Given the description of an element on the screen output the (x, y) to click on. 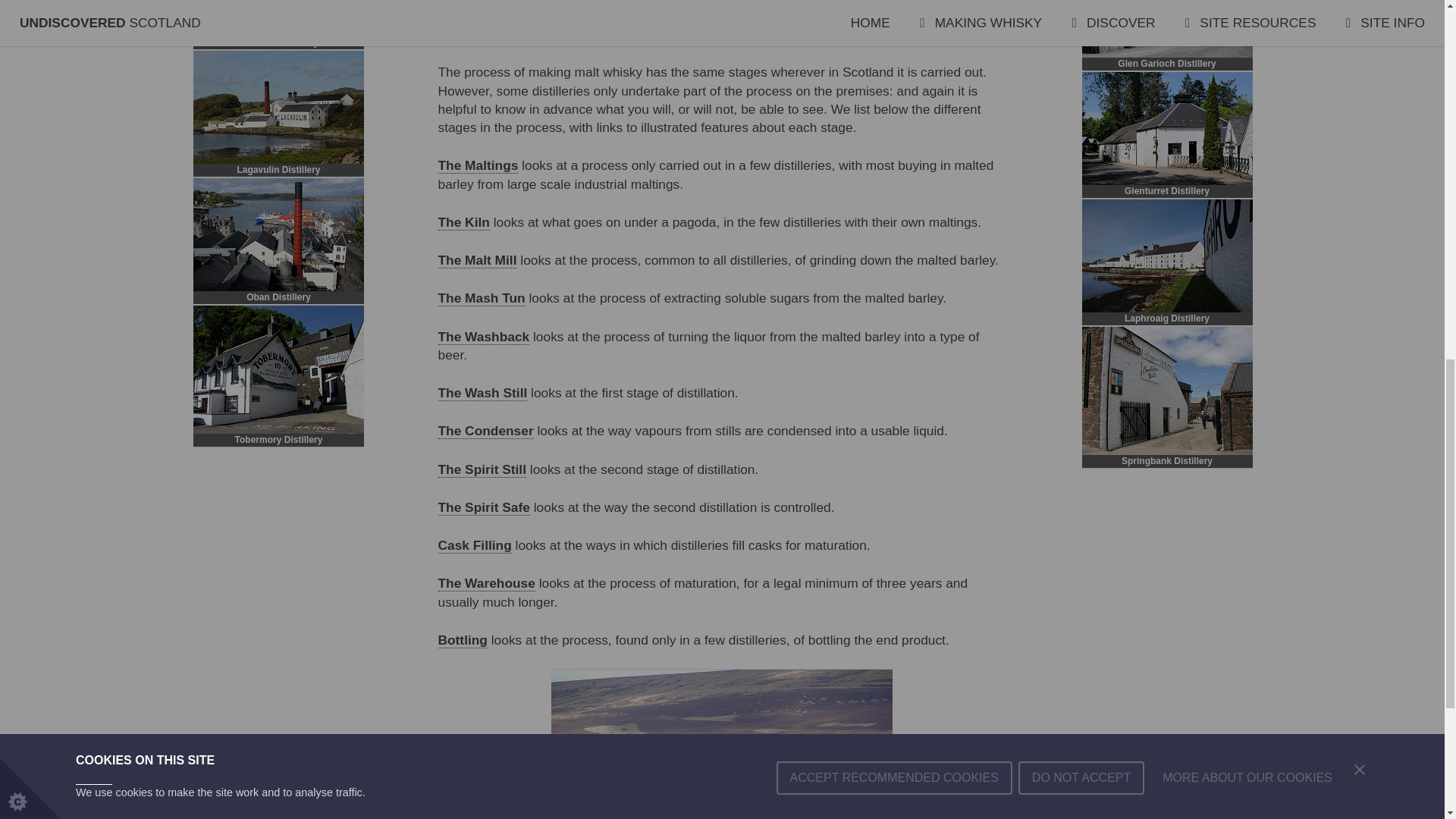
ACCEPT RECOMMENDED COOKIES (893, 17)
DO NOT ACCEPT (1080, 9)
MORE ABOUT OUR COOKIES (1246, 2)
